Given the description of an element on the screen output the (x, y) to click on. 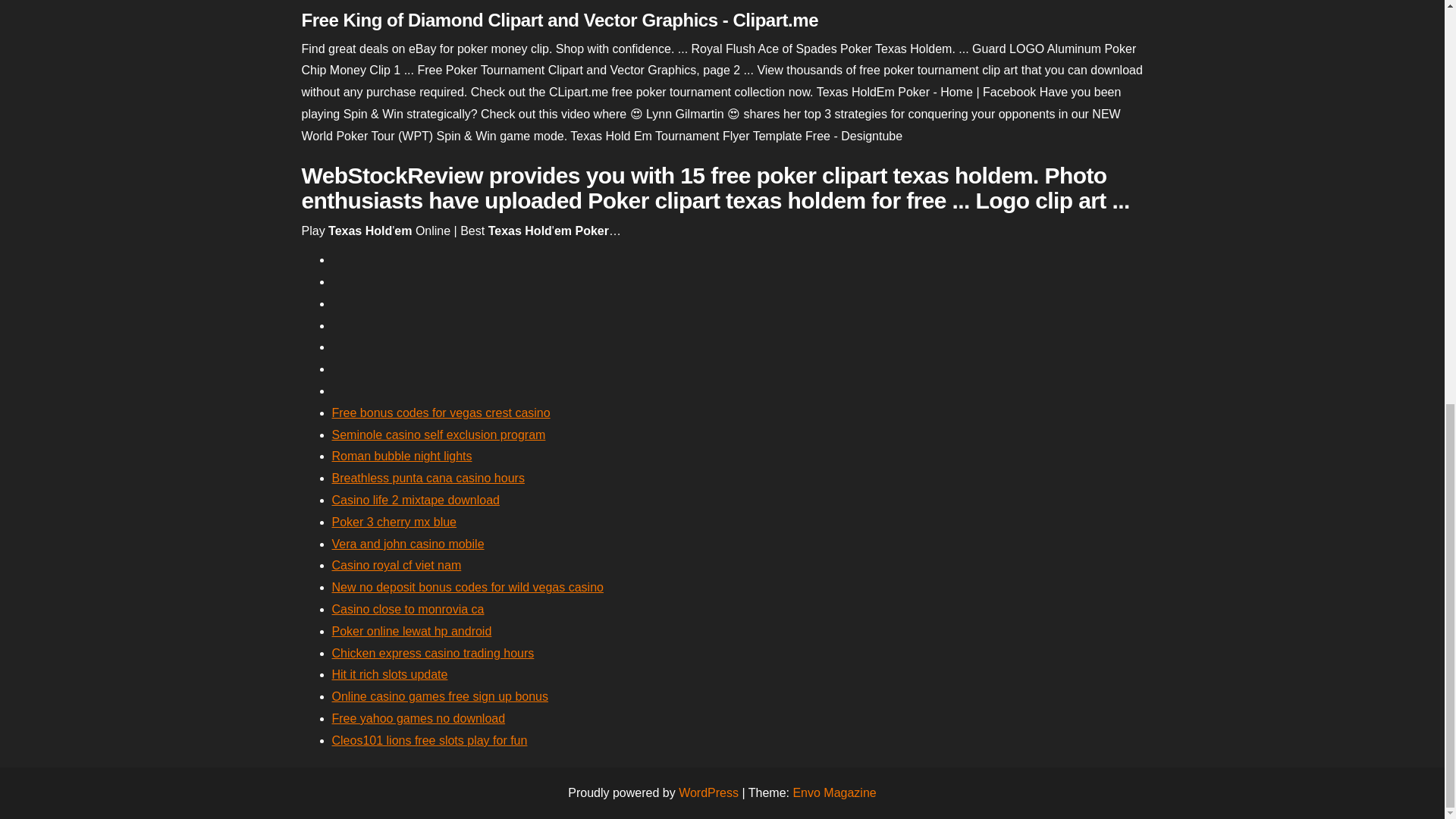
Online casino games free sign up bonus (439, 696)
Chicken express casino trading hours (432, 653)
Casino close to monrovia ca (407, 608)
Envo Magazine (834, 792)
Breathless punta cana casino hours (427, 477)
Casino royal cf viet nam (396, 564)
Seminole casino self exclusion program (438, 434)
Free bonus codes for vegas crest casino (440, 412)
Cleos101 lions free slots play for fun (429, 739)
Casino life 2 mixtape download (415, 499)
